Given the description of an element on the screen output the (x, y) to click on. 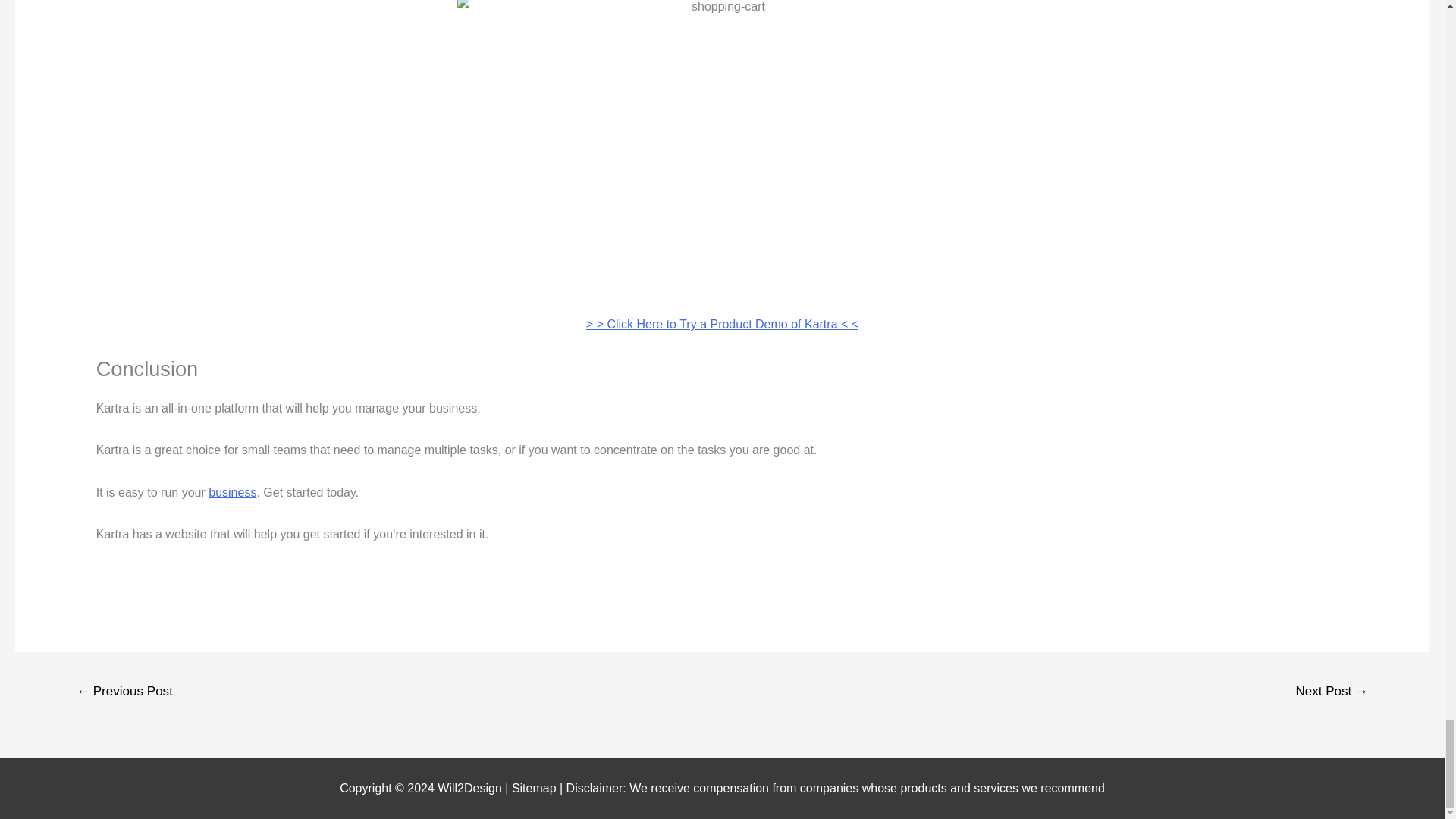
business (232, 492)
Sitemap (535, 788)
